Given the description of an element on the screen output the (x, y) to click on. 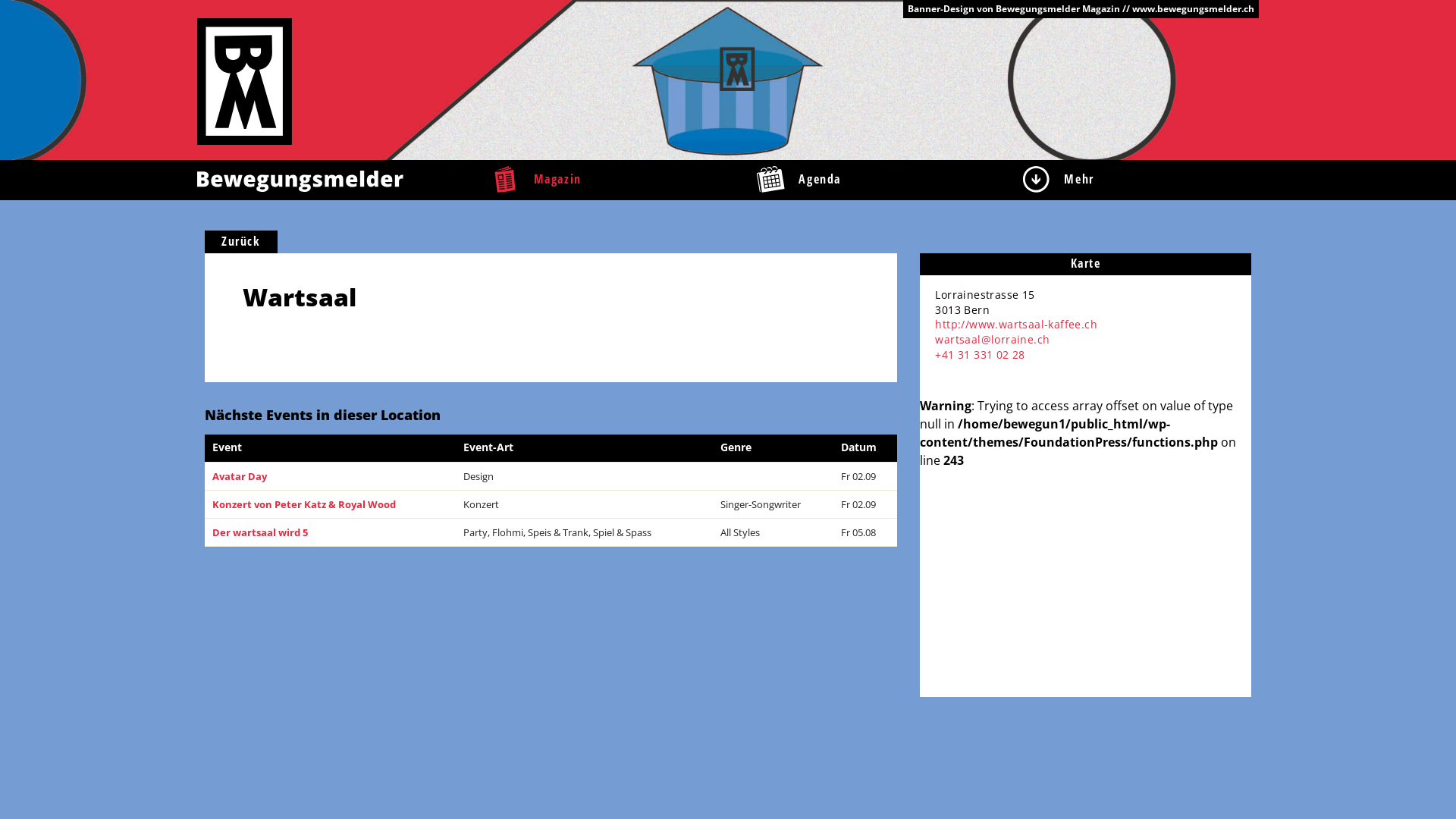
Mehr Element type: text (1125, 180)
Konzert von Peter Katz & Royal Wood Element type: text (303, 504)
http://www.wartsaal-kaffee.ch Element type: text (1016, 323)
Magazin Element type: text (595, 180)
Avatar Day Element type: text (239, 476)
wartsaal@lorraine.ch Element type: text (992, 339)
+41 31 331 02 28 Element type: text (979, 354)
Home Element type: hover (244, 80)
Agenda Element type: text (860, 180)
Der wartsaal wird 5 Element type: text (259, 532)
